Given the description of an element on the screen output the (x, y) to click on. 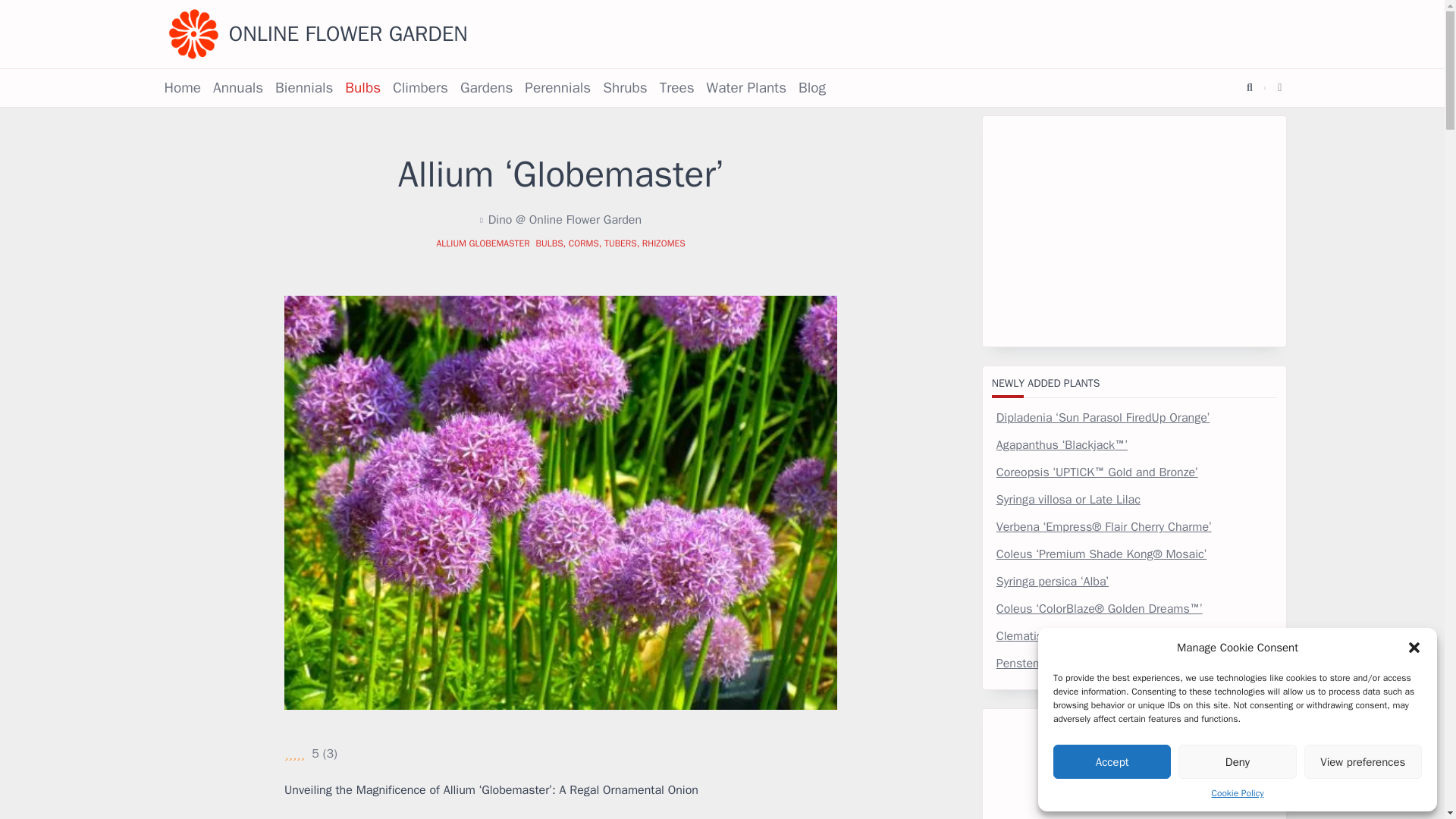
Advertisement (1133, 768)
Accept (1111, 761)
Advertisement (1133, 231)
Cookie Policy (1237, 793)
View preferences (1363, 761)
Deny (1236, 761)
